Given the description of an element on the screen output the (x, y) to click on. 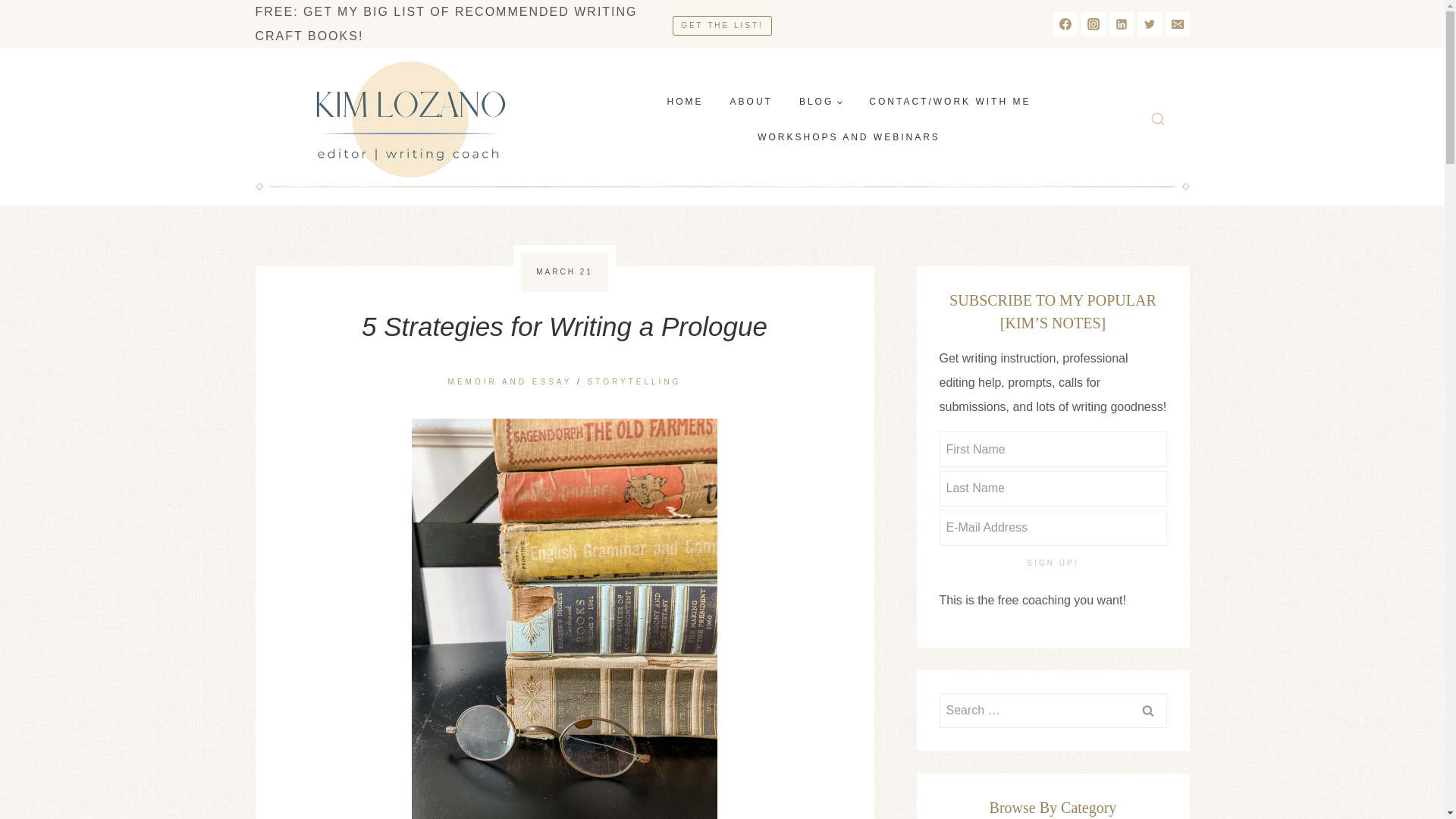
HOME (684, 101)
Search (1147, 708)
Search (1147, 708)
WORKSHOPS AND WEBINARS (848, 136)
MEMOIR AND ESSAY (510, 381)
Sign up! (1052, 563)
ABOUT (751, 101)
GET THE LIST! (721, 25)
STORYTELLING (634, 381)
BLOG (821, 101)
Shift-click to edit this widget. (459, 24)
